Given the description of an element on the screen output the (x, y) to click on. 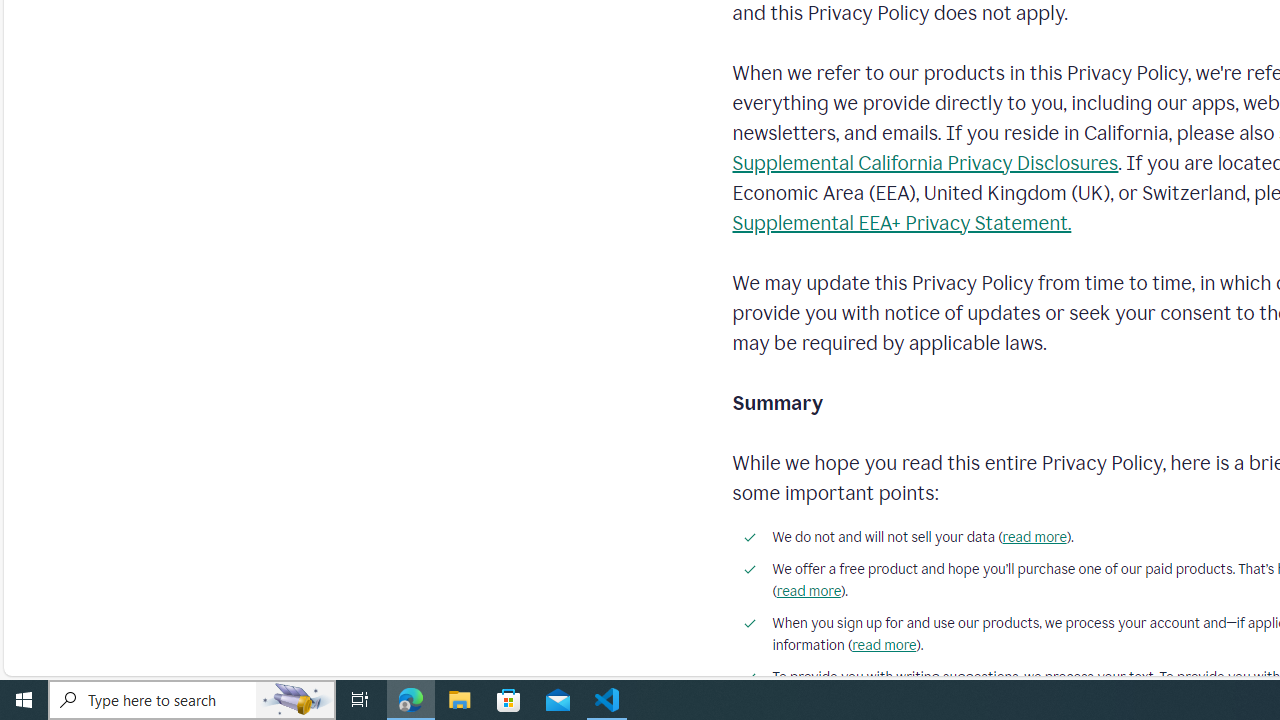
read more (884, 645)
Supplemental EEA+ Privacy Statement. (902, 222)
Supplemental California Privacy Disclosures (925, 162)
